Given the description of an element on the screen output the (x, y) to click on. 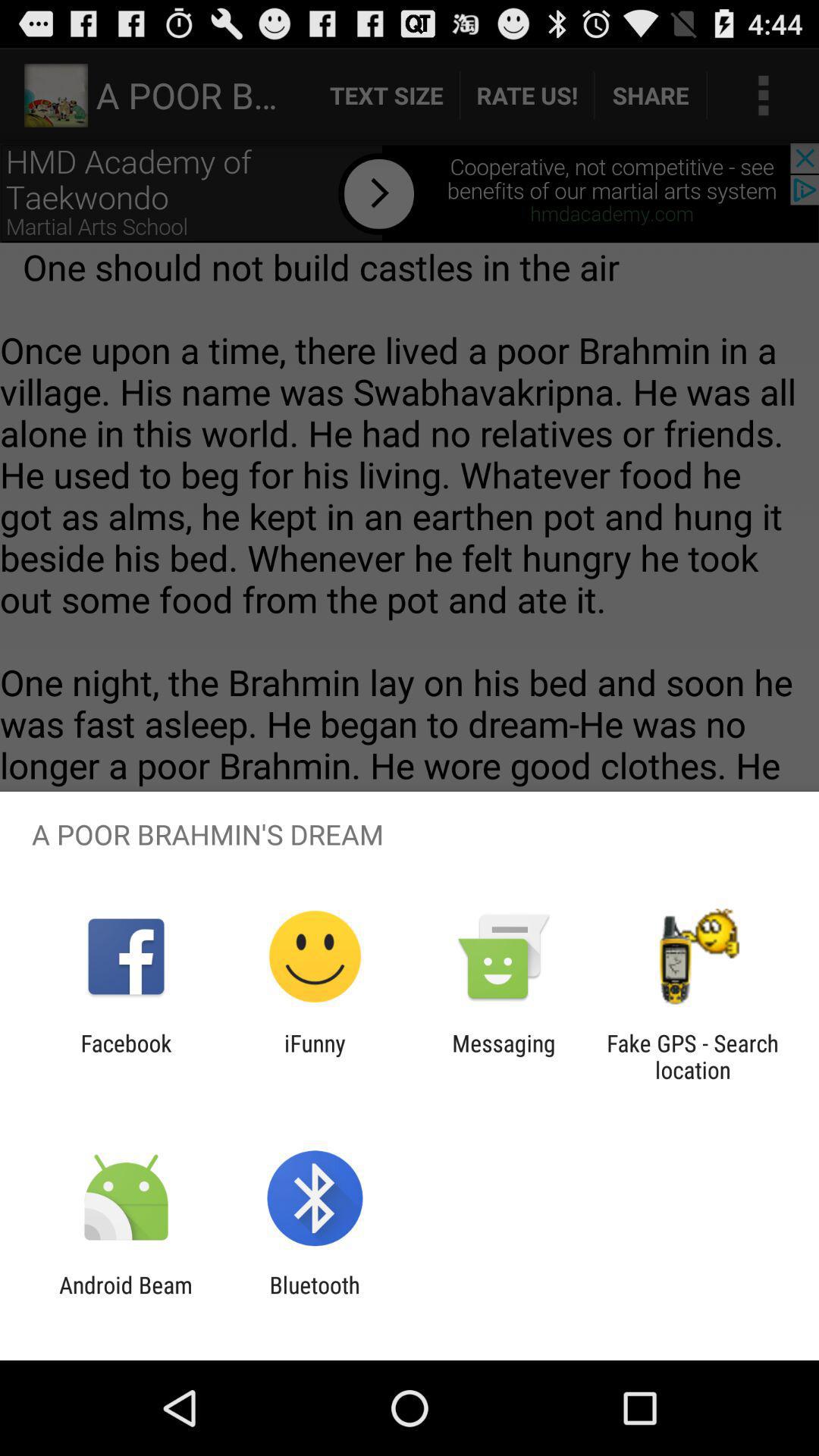
open the icon at the bottom right corner (692, 1056)
